Given the description of an element on the screen output the (x, y) to click on. 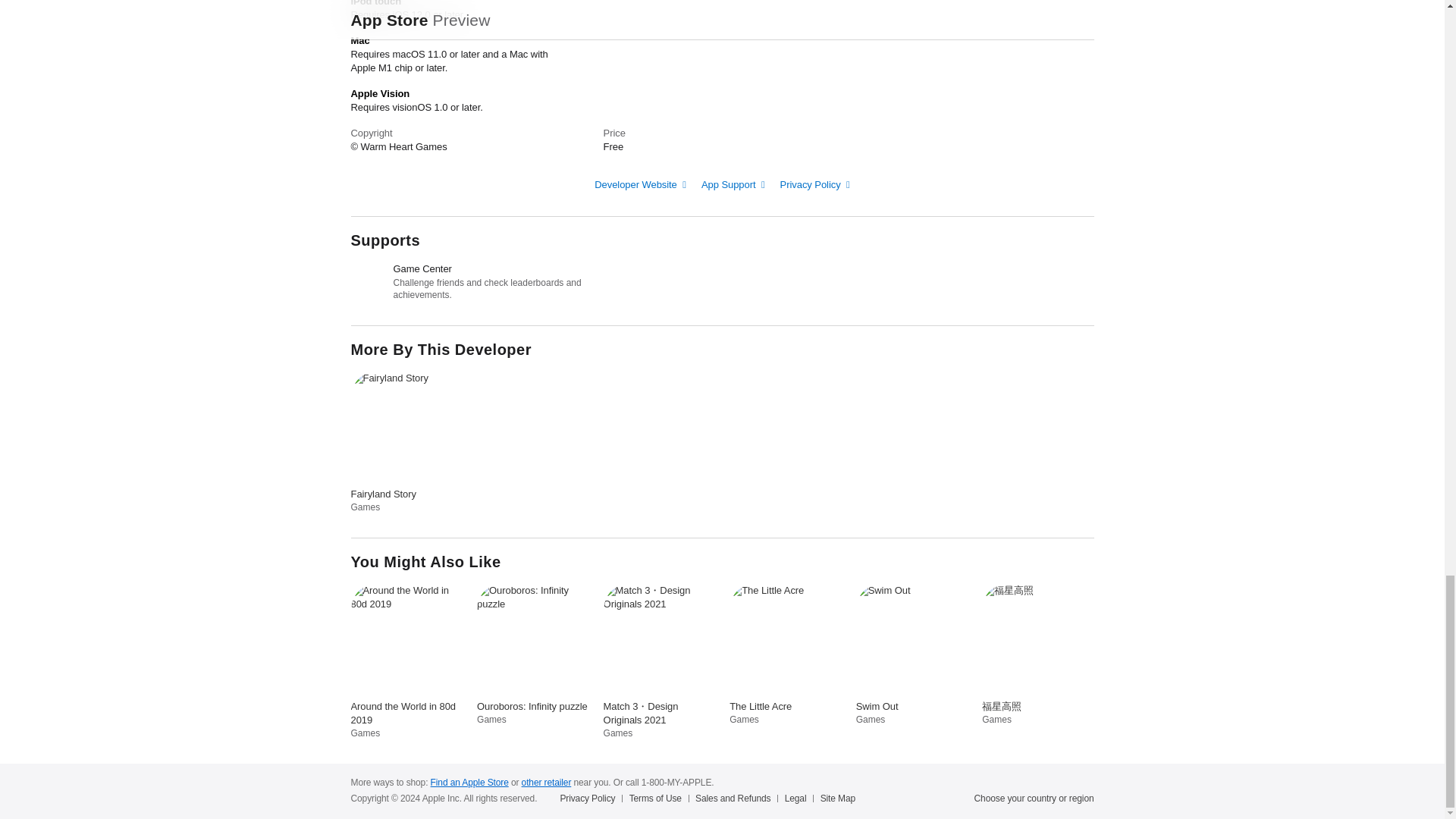
Privacy Policy (815, 184)
Find an Apple Store (469, 782)
Choose your country or region (1034, 798)
Developer Website (639, 184)
other retailer (546, 782)
App Support (733, 184)
